Given the description of an element on the screen output the (x, y) to click on. 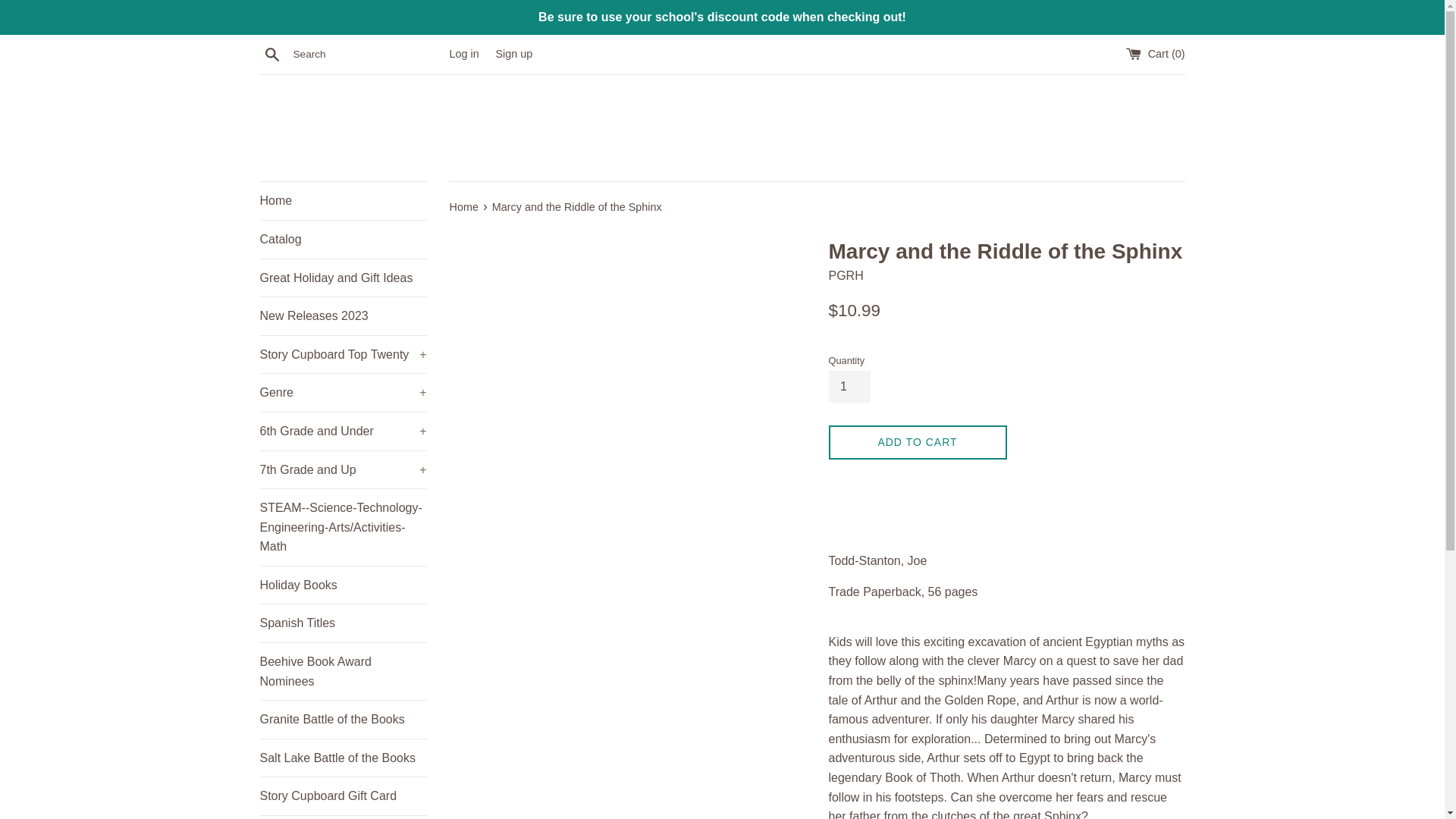
Back to the frontpage (464, 206)
New Releases 2023 (342, 315)
1 (848, 386)
Search (271, 53)
Log in (463, 53)
Sign up (513, 53)
Great Holiday and Gift Ideas (342, 278)
Home (342, 200)
Catalog (342, 239)
